Given the description of an element on the screen output the (x, y) to click on. 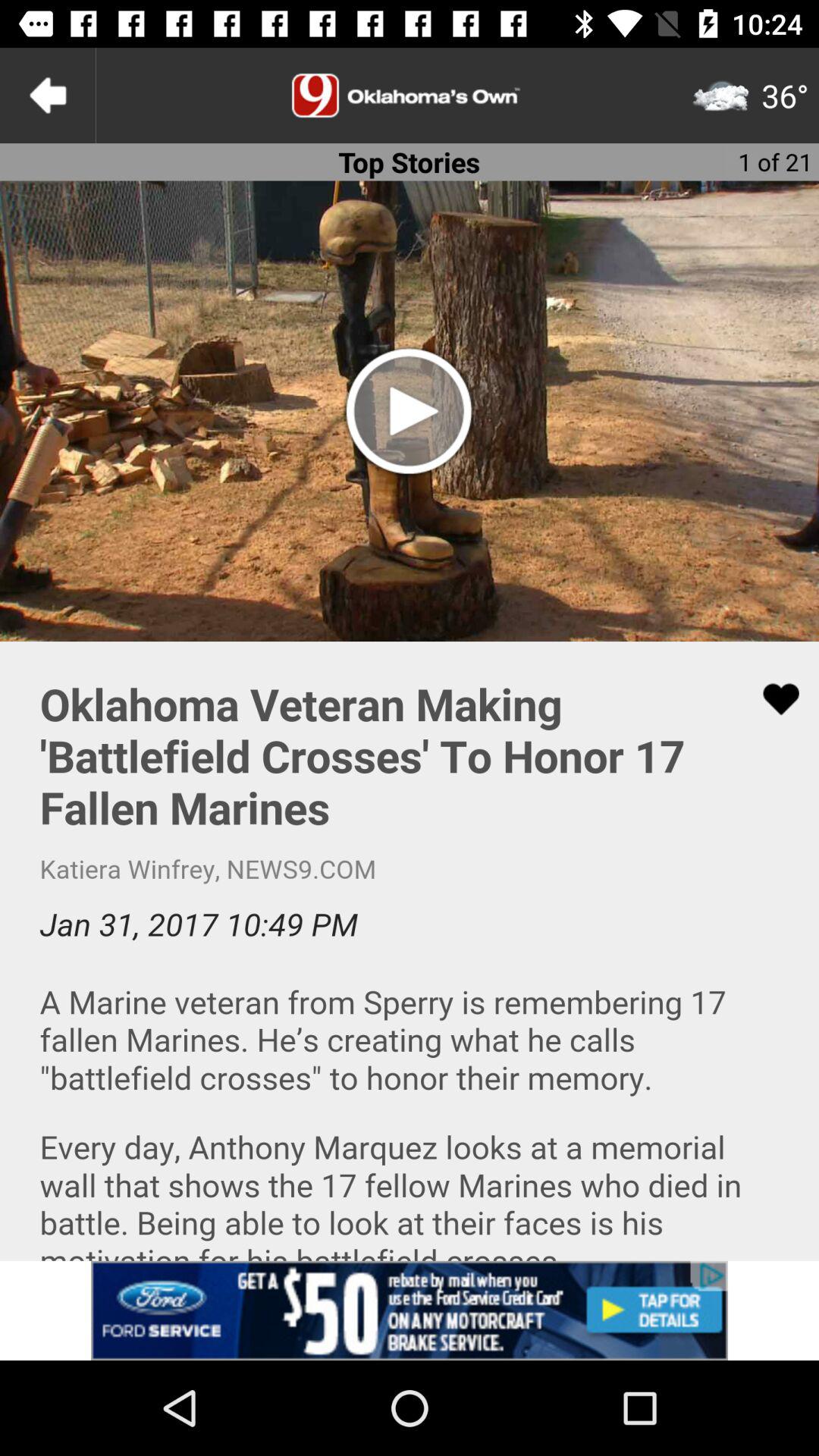
add article to favorites (771, 699)
